Given the description of an element on the screen output the (x, y) to click on. 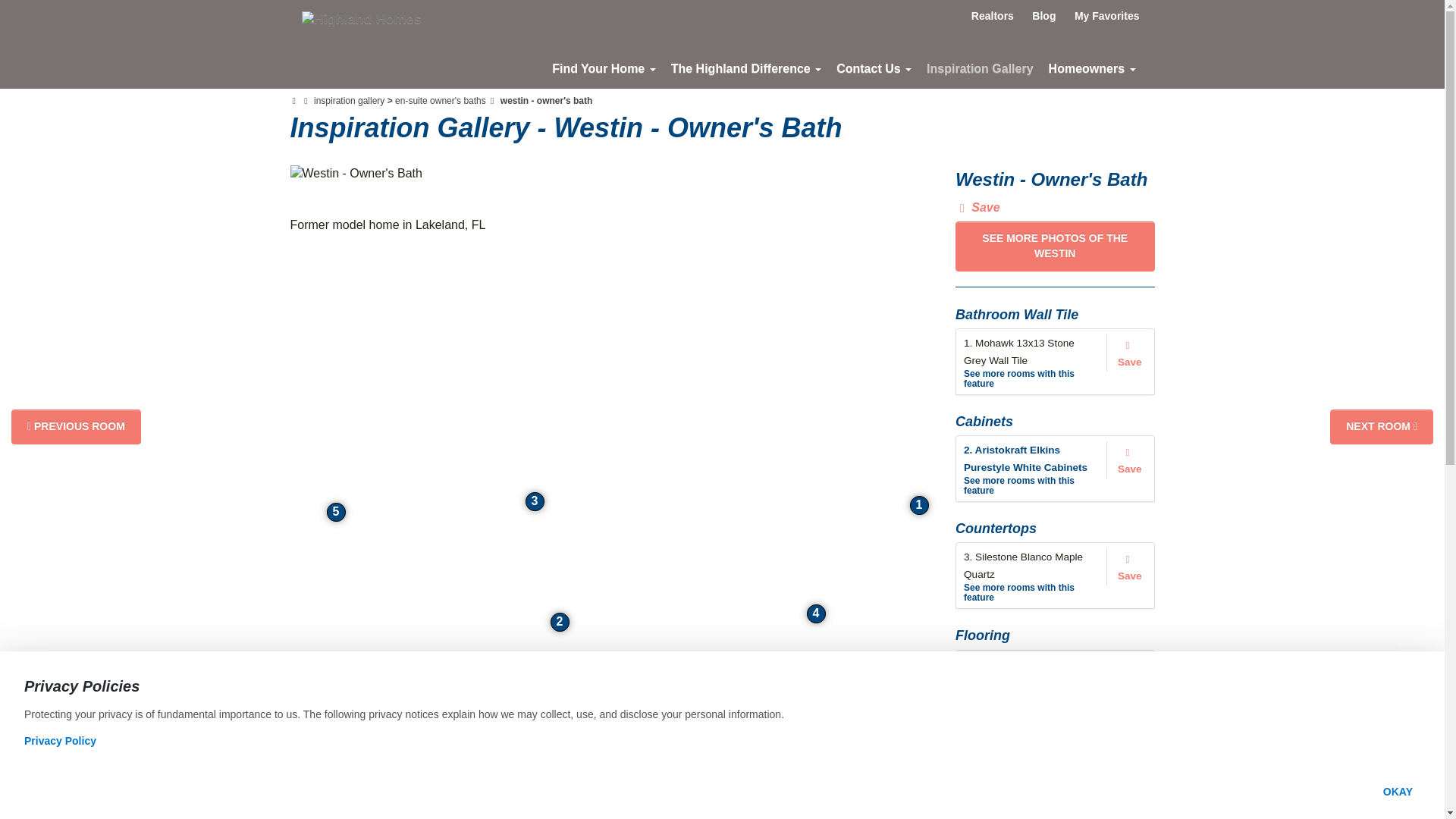
Previous Room (76, 426)
Save (1130, 352)
Save (979, 207)
Save (1130, 460)
Highland Homes (361, 18)
My Favorites (1107, 15)
Find Your Home (603, 68)
Realtors (992, 15)
Next Room (1381, 426)
Blog (1043, 15)
